Given the description of an element on the screen output the (x, y) to click on. 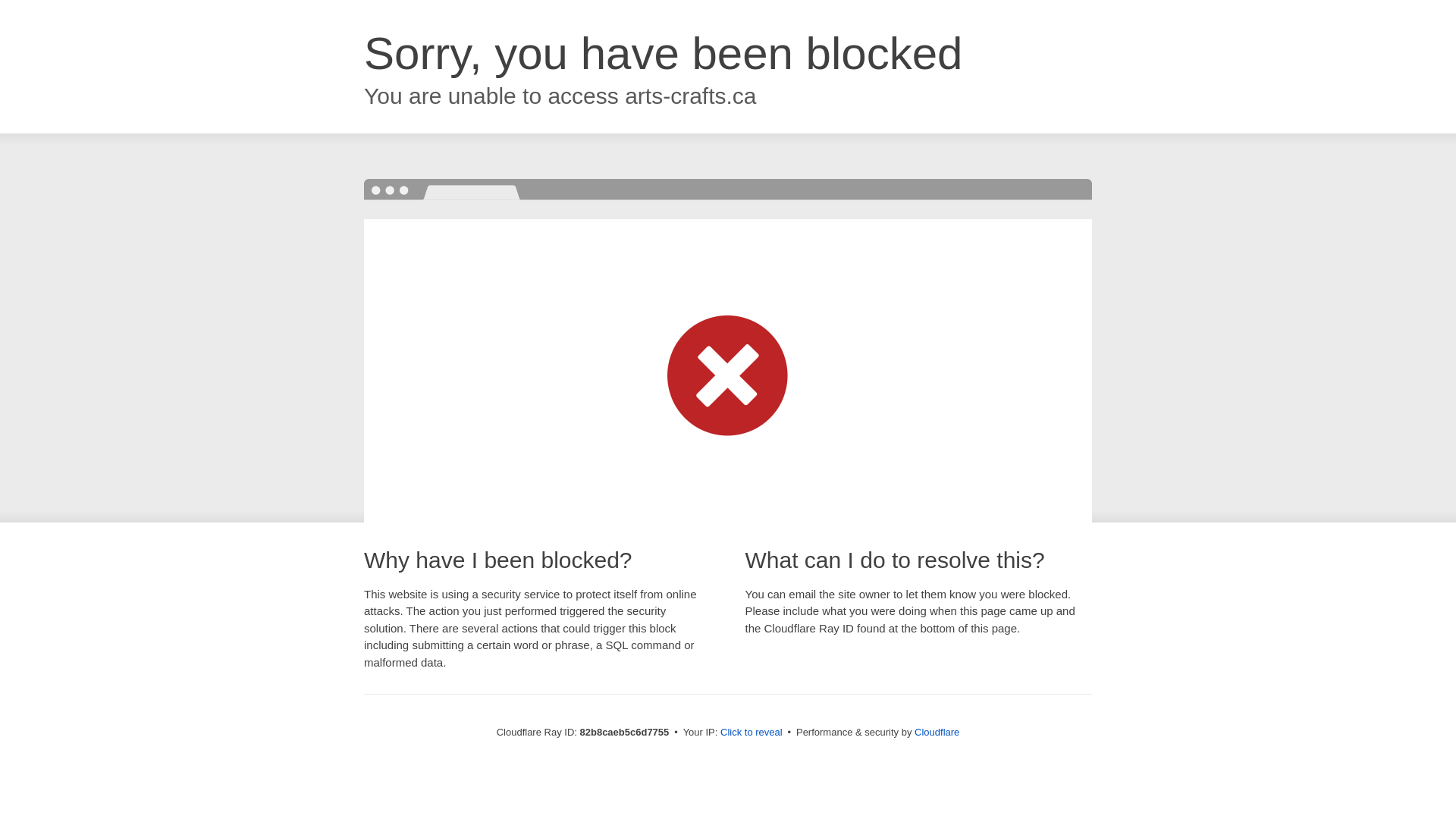
Cloudflare Element type: text (936, 731)
Click to reveal Element type: text (751, 732)
